Given the description of an element on the screen output the (x, y) to click on. 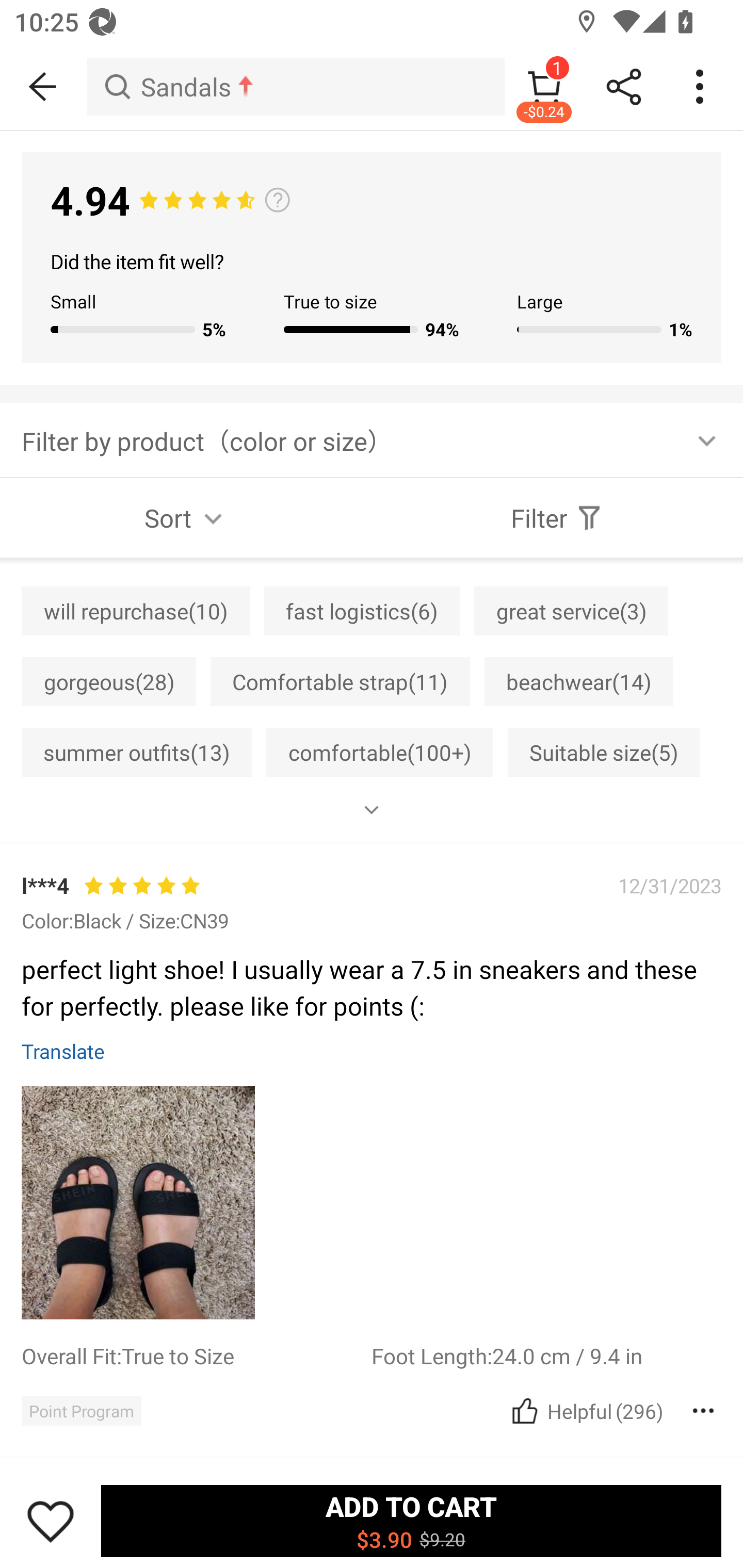
BACK (43, 86)
1 -$0.24 (543, 87)
Sandals (295, 87)
Filter by product（color or size） (371, 439)
Sort (185, 518)
Filter (557, 518)
will repurchase(10) (135, 610)
fast logistics(6) (361, 610)
great service(3) (570, 610)
gorgeous(28) (108, 680)
Comfortable strap(11) (340, 680)
beachwear(14) (578, 680)
summer outfits(13) (136, 751)
comfortable(100‎+) (379, 751)
Suitable size(5) (603, 751)
Translate (62, 1051)
Overall Fit:True to Size (196, 1355)
Foot Length:24.0 cm / 9.4 in (546, 1355)
Cancel Helpful Was this article helpful? (296) (585, 1409)
Point Program (81, 1410)
ADD TO CART $3.90 $9.20 (411, 1520)
Save (50, 1520)
